Given the description of an element on the screen output the (x, y) to click on. 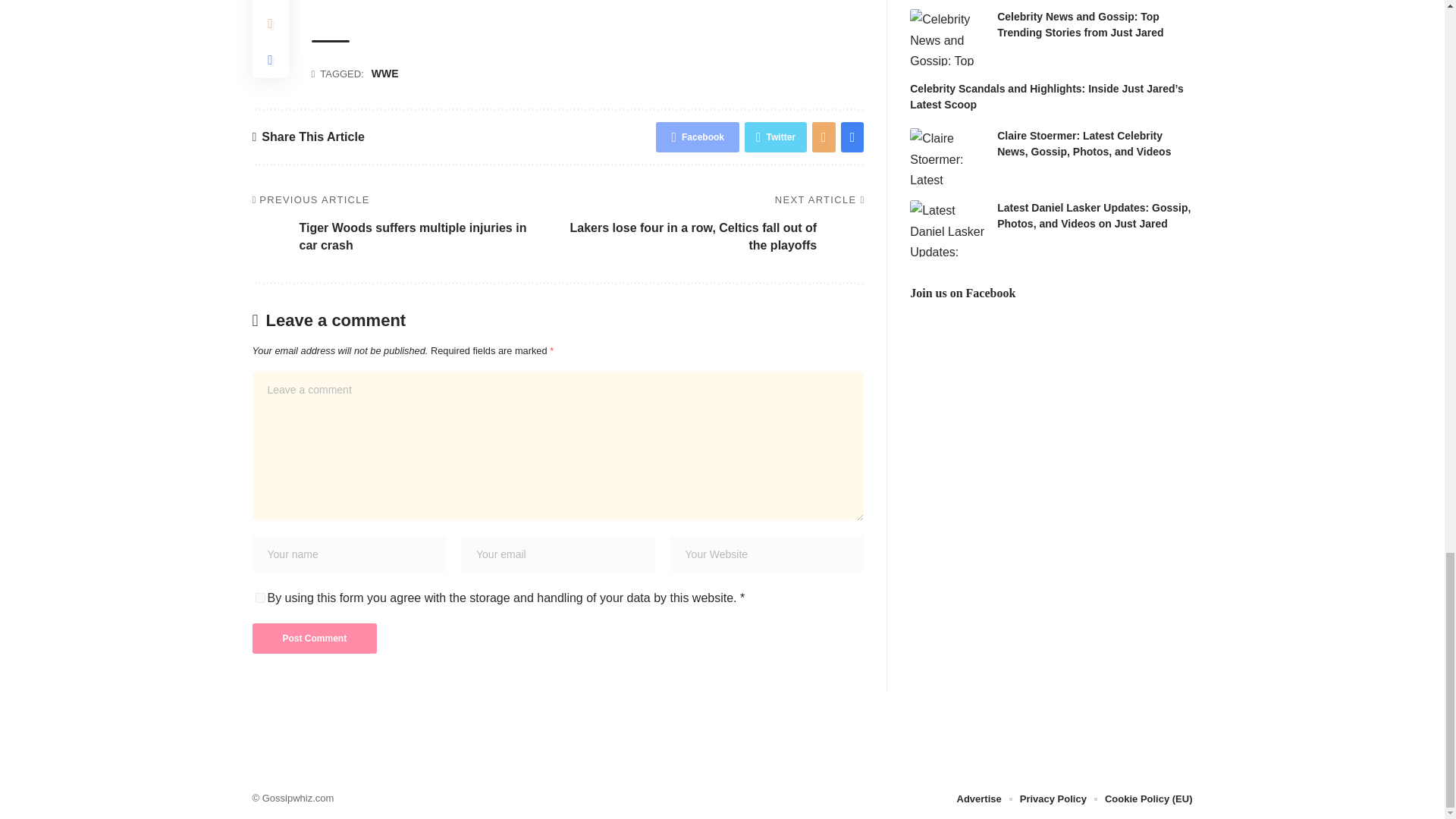
Post Comment (314, 638)
